Given the description of an element on the screen output the (x, y) to click on. 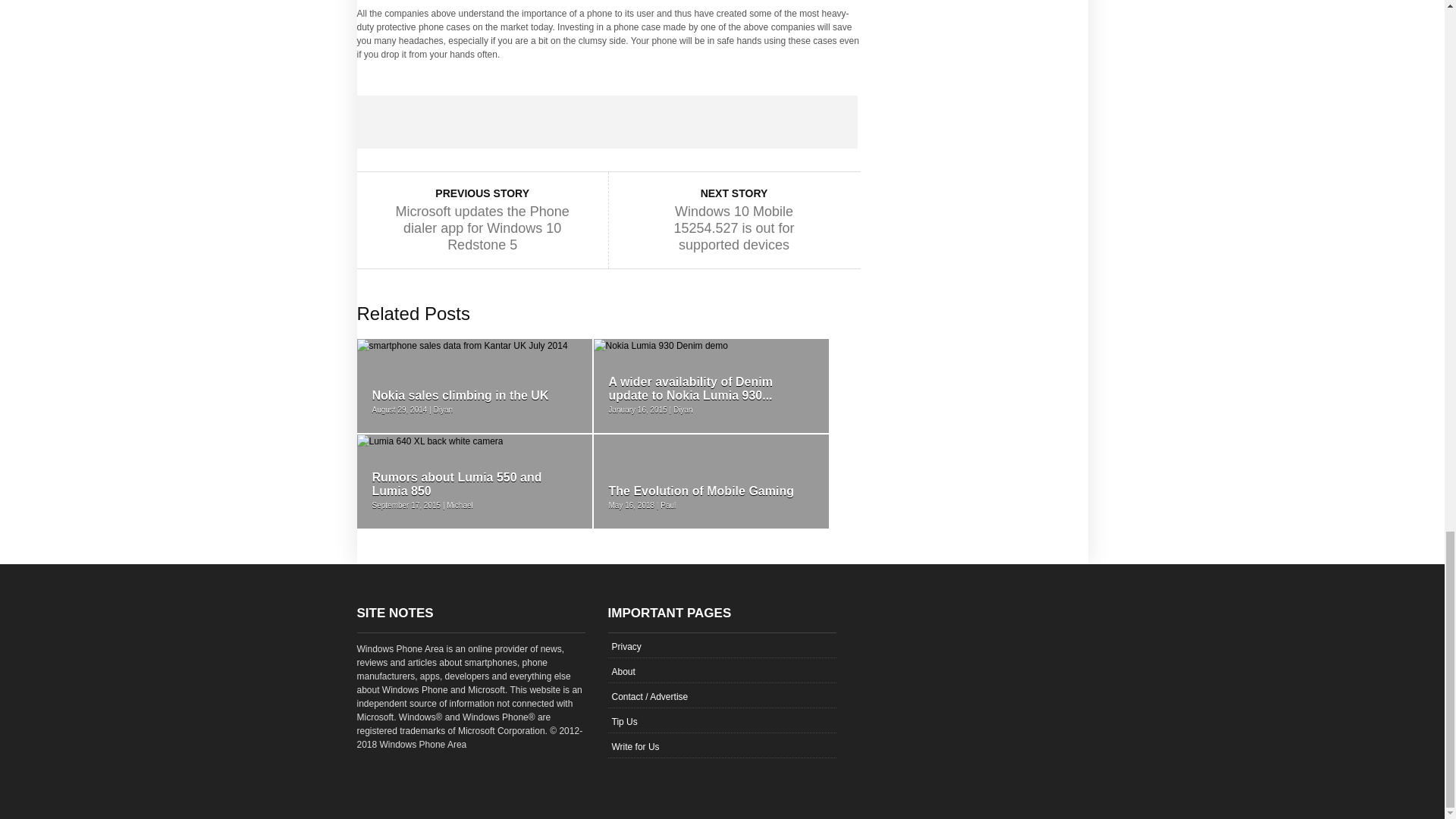
Share on Facebook (406, 121)
Email This (807, 121)
Share on Google Plus (607, 121)
Share on Google Plus (607, 121)
Email This (807, 121)
Tweet This (507, 121)
Pin This (707, 121)
Share on Facebook (406, 121)
